Given the description of an element on the screen output the (x, y) to click on. 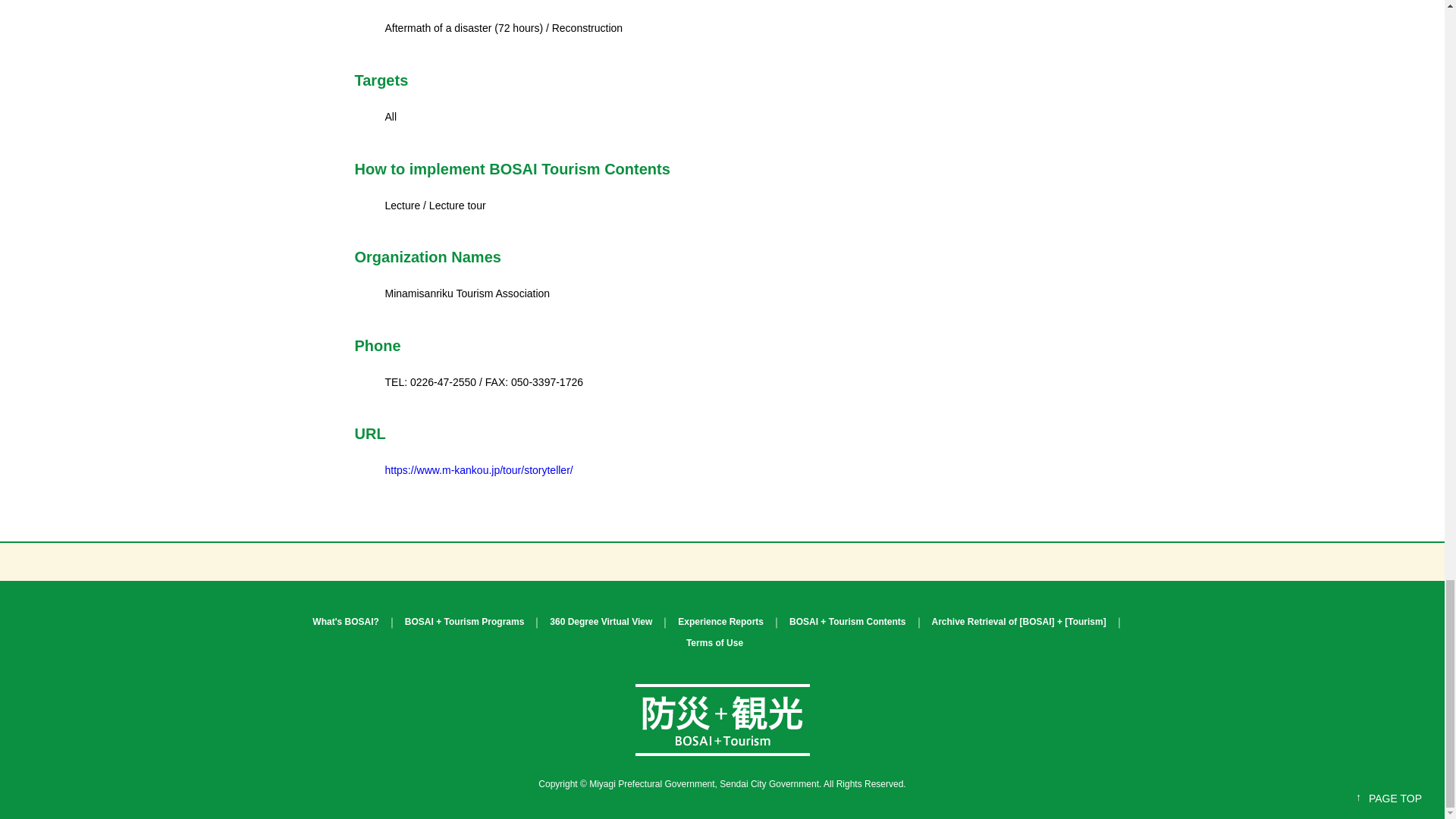
Terms of Use (713, 643)
360 Degree Virtual View (601, 621)
What's BOSAI? (345, 621)
Experience Reports (720, 621)
